Given the description of an element on the screen output the (x, y) to click on. 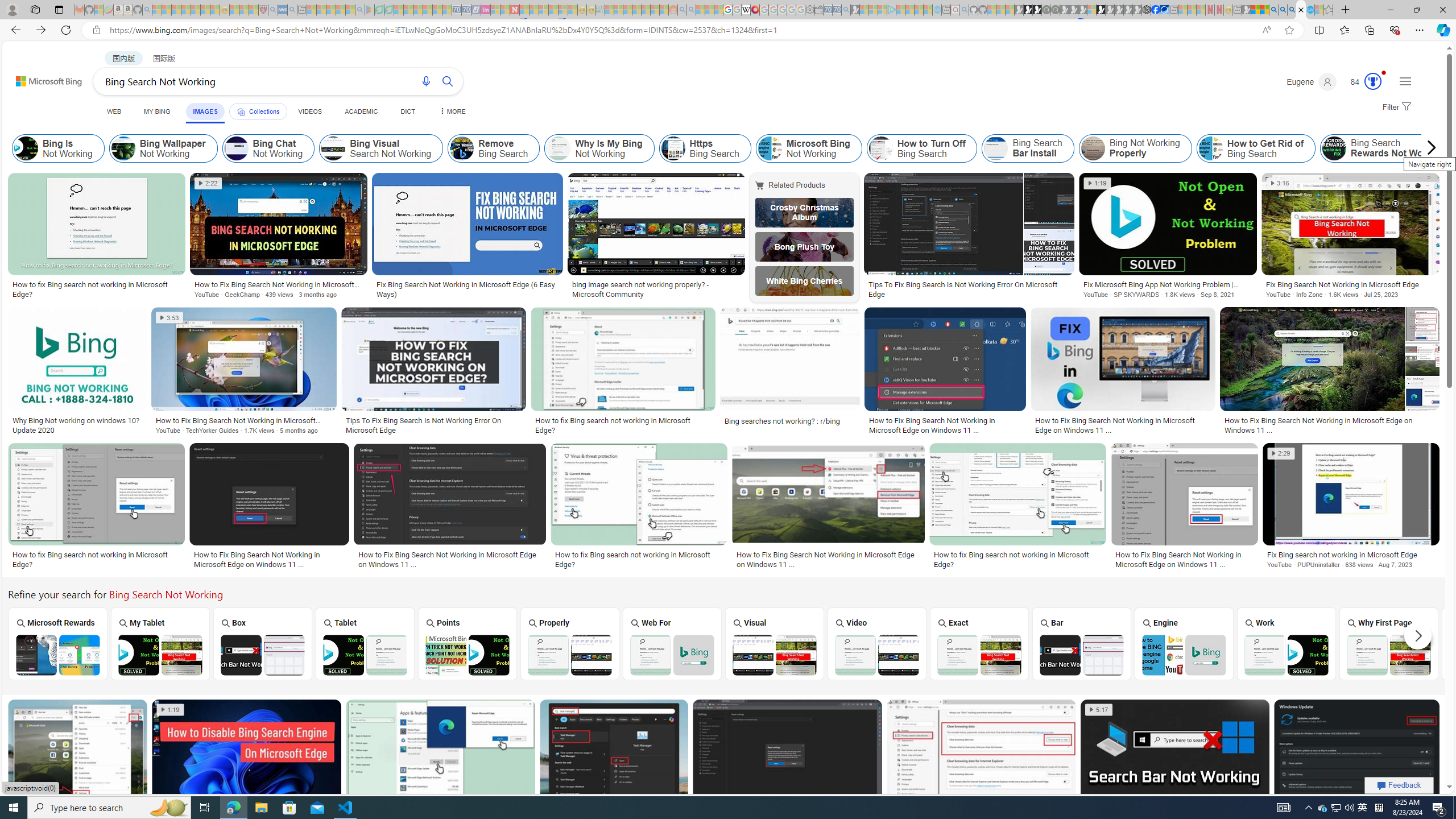
Bar (1081, 643)
Services - Maintenance | Sky Blue Bikes - Sky Blue Bikes (1309, 9)
Bing Search the Web for Image Not Working (671, 655)
DICT (407, 111)
google - Search - Sleeping (359, 9)
Why First Page of Bing Search Not Working (1387, 655)
Fix Bing search not working in Microsoft Edge (1350, 554)
Sign in to your account - Sleeping (1090, 9)
